Given the description of an element on the screen output the (x, y) to click on. 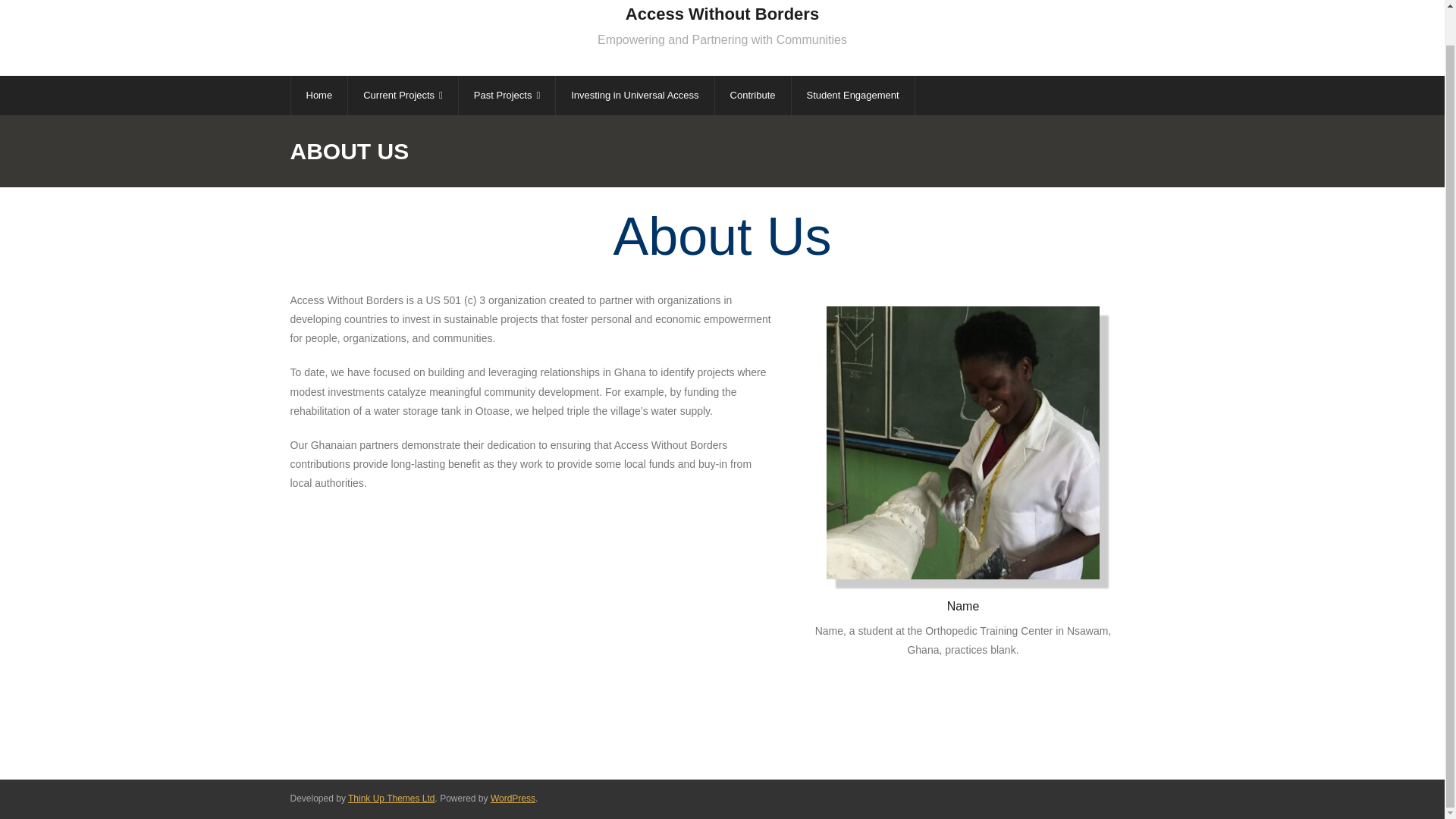
Home (318, 95)
Access Without Borders (721, 14)
Past Projects (506, 95)
Think Up Themes Ltd (391, 798)
Student Engagement (852, 95)
Empowering and Partnering with Communities (721, 39)
Current Projects (402, 95)
Contribute (752, 95)
Investing in Universal Access (633, 95)
